Given the description of an element on the screen output the (x, y) to click on. 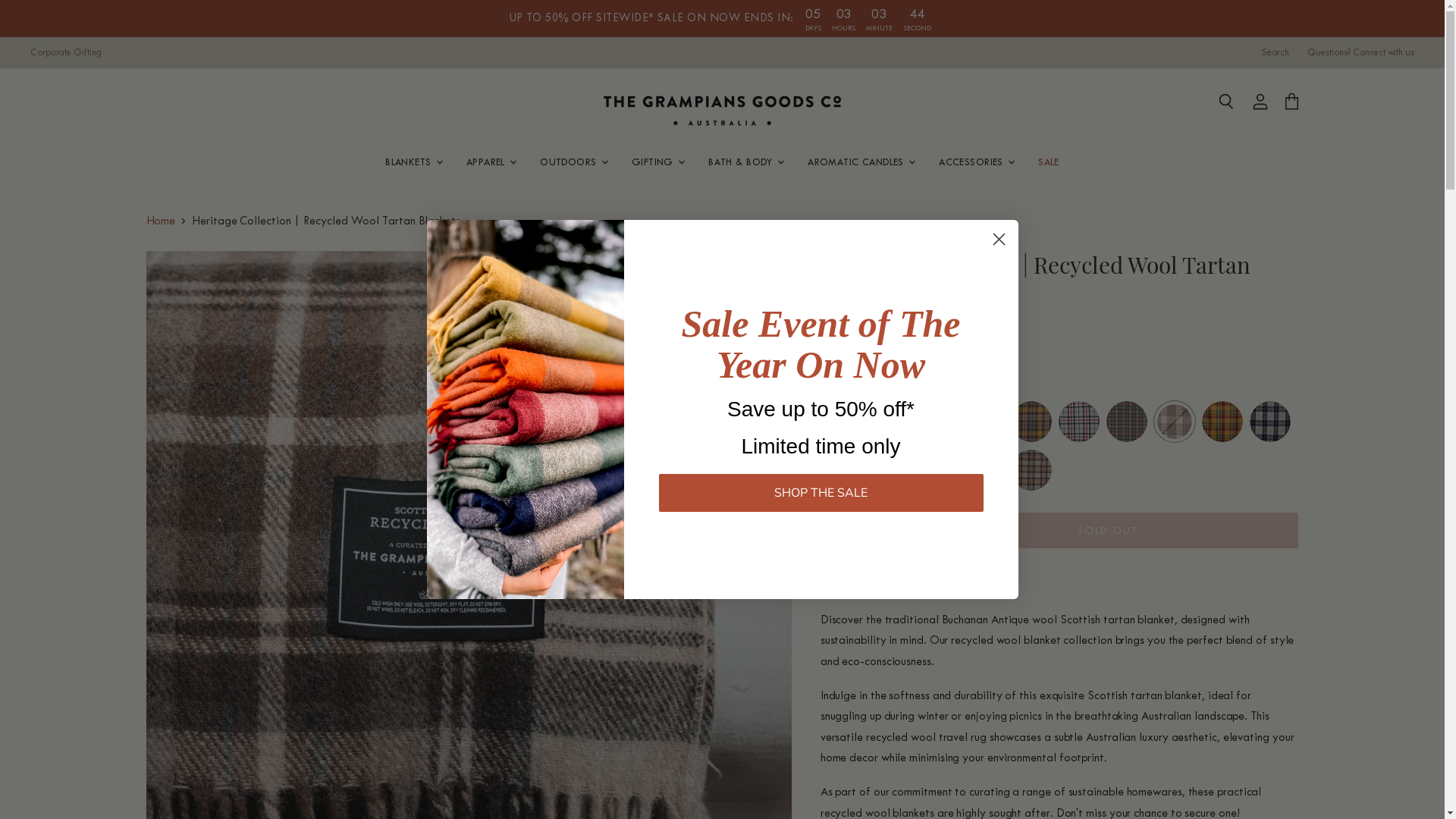
GIFTING Element type: text (656, 161)
Submit Element type: text (20, 9)
Questions? Connect with us Element type: text (1360, 53)
SHOP THE SALE Element type: text (820, 492)
Close dialog 1 Element type: text (998, 238)
SALE Element type: text (1048, 161)
Blankets Element type: hover (524, 409)
AROMATIC CANDLES Element type: text (860, 161)
BATH & BODY Element type: text (744, 161)
ACCESSORIES Element type: text (975, 161)
APPAREL Element type: text (490, 161)
View account Element type: text (1260, 101)
Search Element type: text (1275, 53)
SOLD OUT Element type: text (1107, 530)
BLANKETS Element type: text (412, 161)
View cart Element type: text (1291, 101)
Corporate Gifting Element type: text (65, 53)
OUTDOORS Element type: text (572, 161)
Home Element type: text (160, 221)
Search Element type: text (1225, 101)
